Given the description of an element on the screen output the (x, y) to click on. 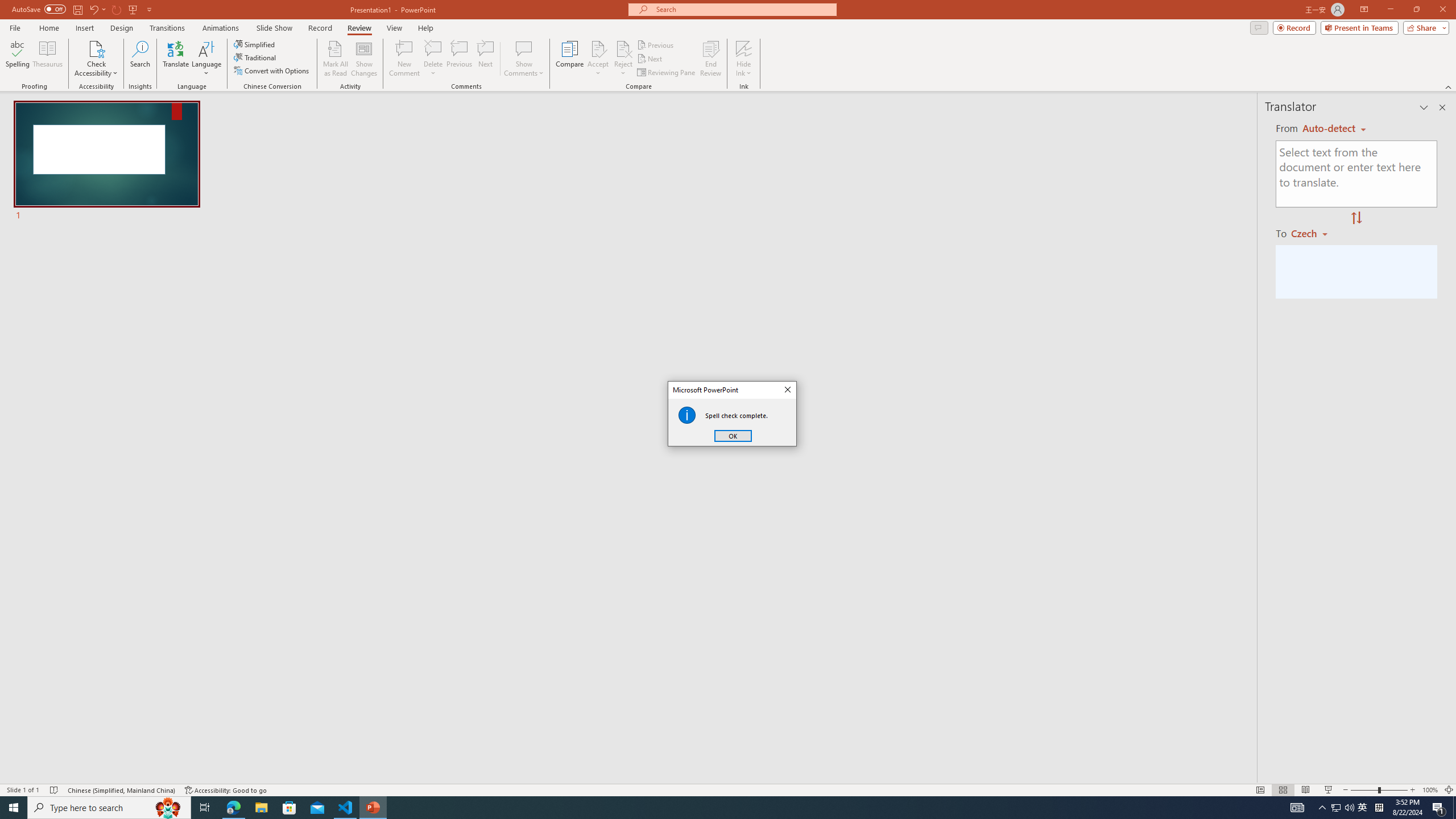
Auto-detect (1334, 128)
Mark All as Read (335, 58)
Accept Change (598, 48)
